Given the description of an element on the screen output the (x, y) to click on. 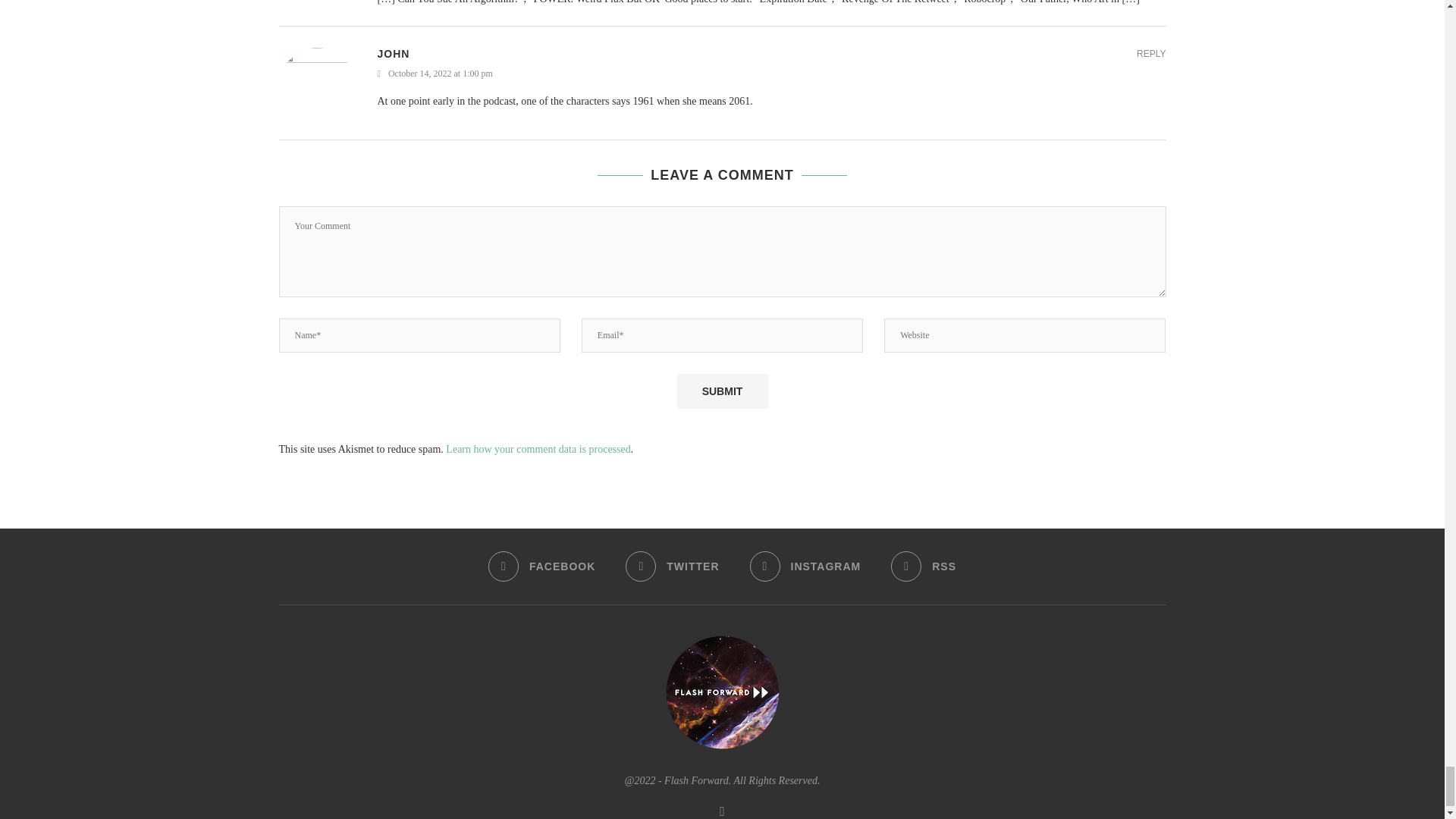
Submit (722, 390)
